Given the description of an element on the screen output the (x, y) to click on. 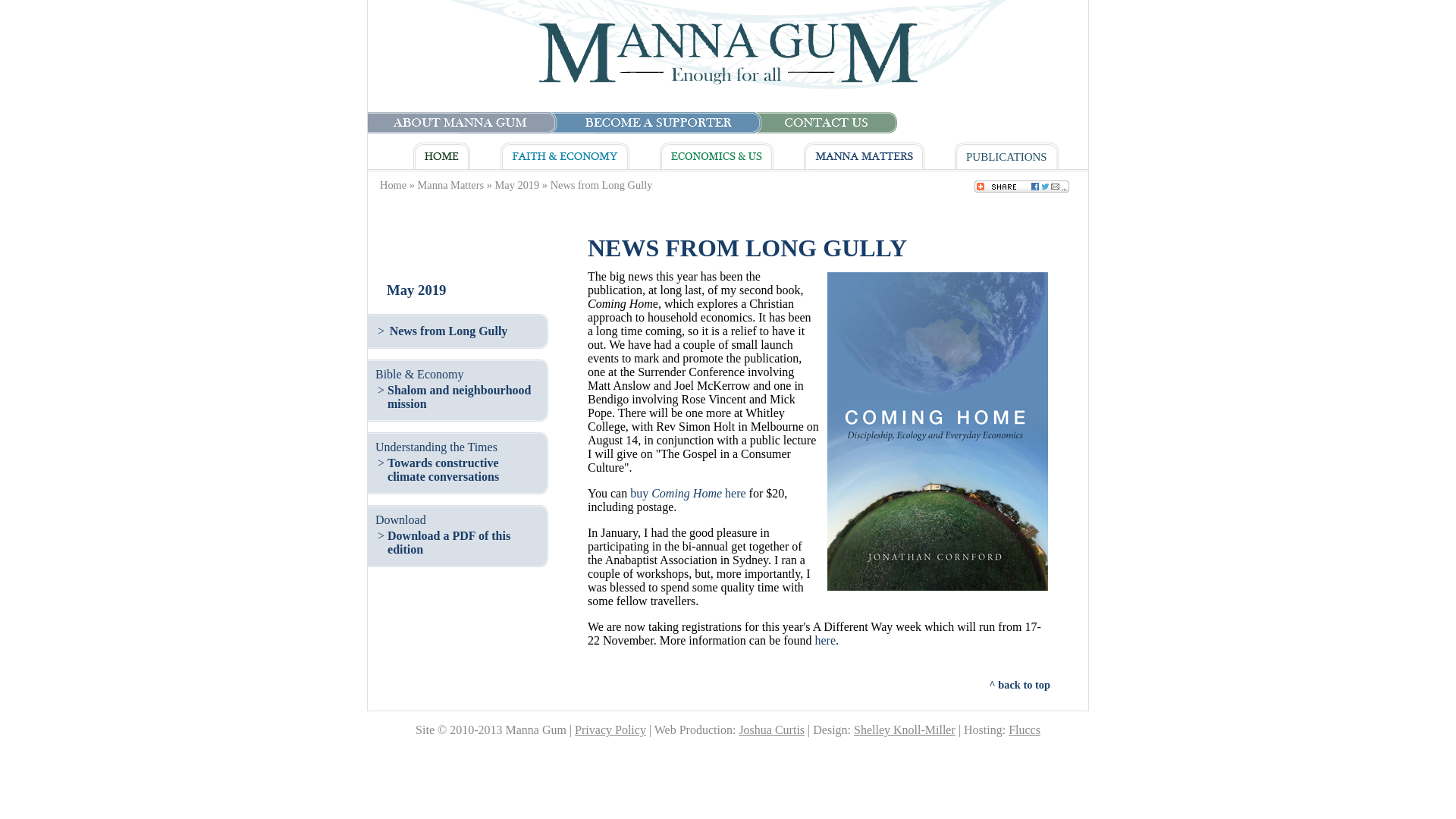
Home Element type: text (392, 184)
Fluccs Element type: text (1024, 729)
here Element type: text (824, 639)
Manna Matters Element type: text (450, 184)
News from Long Gully Element type: text (448, 330)
Privacy Policy Element type: text (610, 729)
Shalom and neighbourhood mission Element type: text (458, 396)
Towards constructive climate conversations Element type: text (442, 469)
Shelley Knoll-Miller Element type: text (904, 729)
May 2019 Element type: text (516, 184)
buy Coming Home here Element type: text (689, 492)
Joshua Curtis Element type: text (771, 729)
PUBLICATIONS Element type: text (1006, 156)
^ back to top Element type: text (1019, 684)
Download a PDF of this edition Element type: text (448, 542)
